Given the description of an element on the screen output the (x, y) to click on. 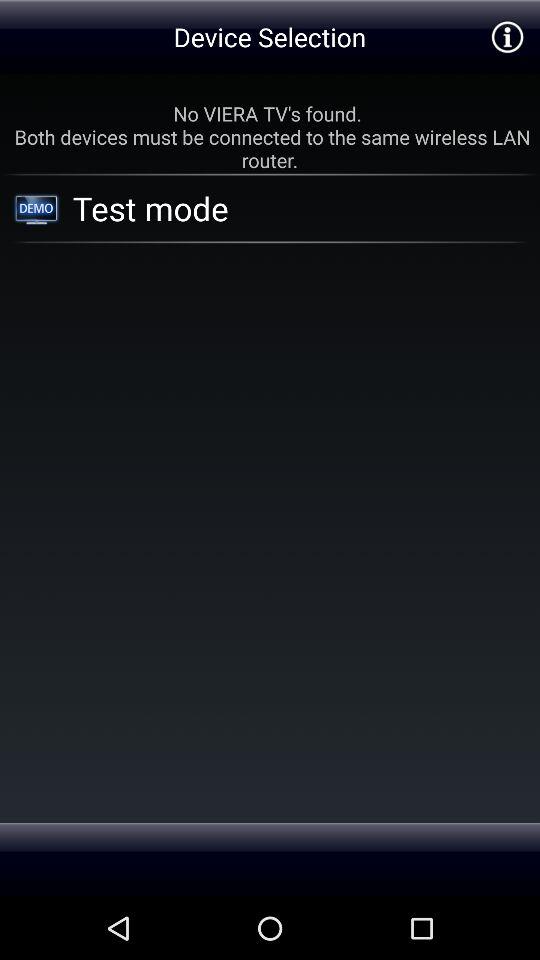
tap the test mode item (275, 208)
